Given the description of an element on the screen output the (x, y) to click on. 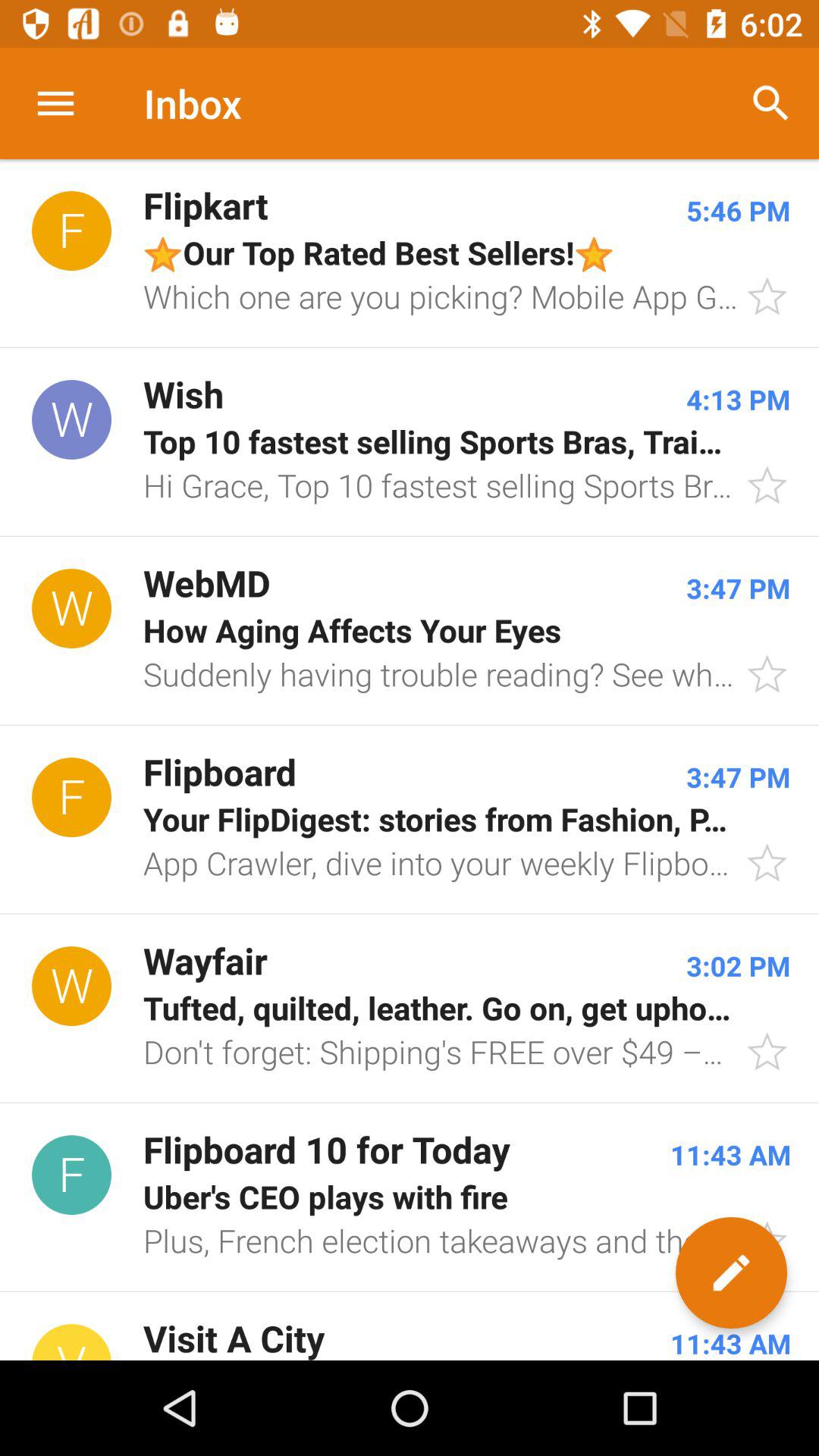
select the item to the right of the inbox app (771, 103)
